Given the description of an element on the screen output the (x, y) to click on. 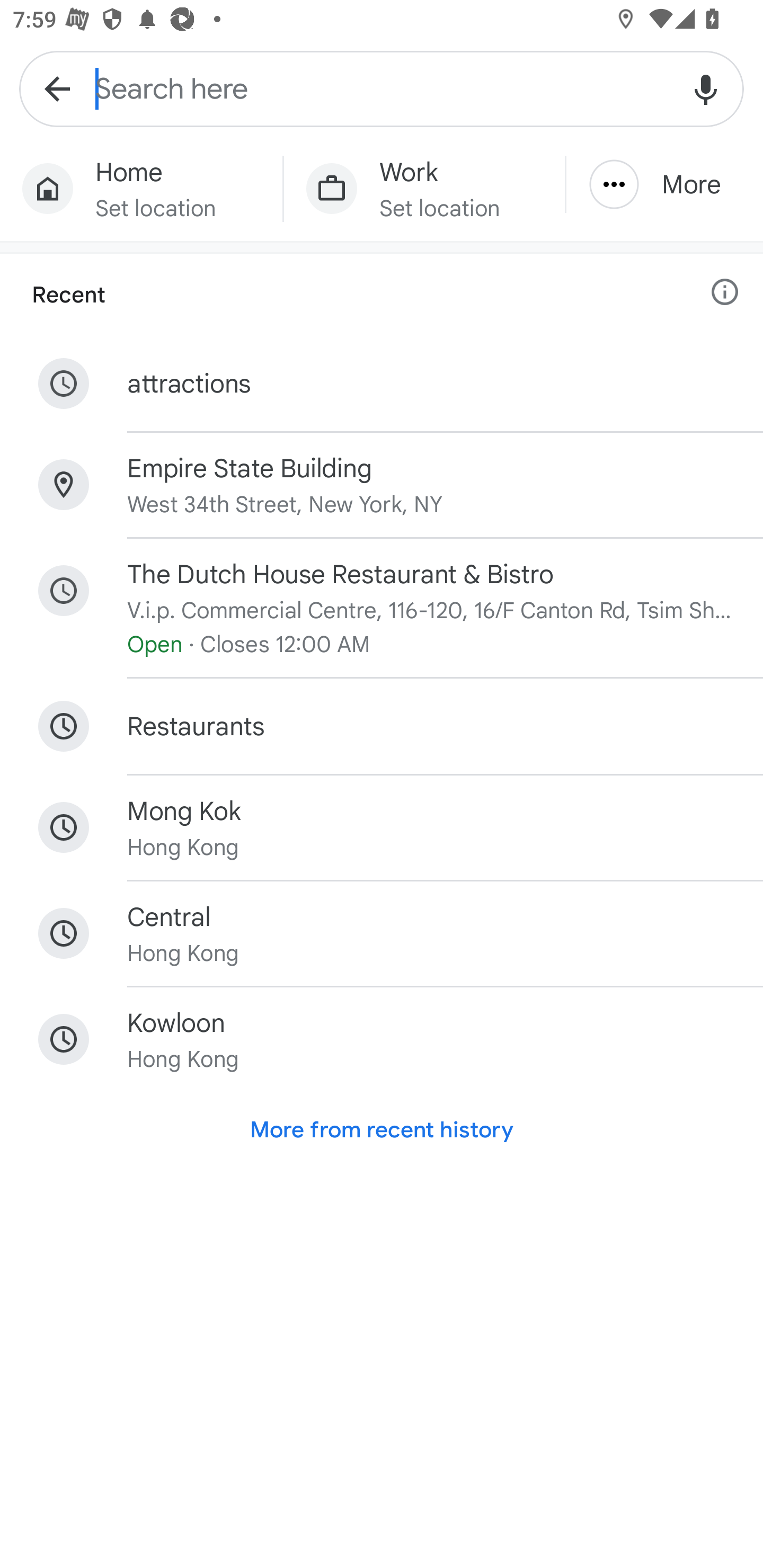
Navigate up (57, 88)
Search here (381, 88)
Voice search (705, 88)
Home Set location (141, 188)
Work Set location (423, 188)
More (664, 184)
attractions (381, 383)
Restaurants (381, 726)
Mong Kok Hong Kong (381, 827)
Central Hong Kong (381, 933)
Kowloon Hong Kong (381, 1039)
More from recent history (381, 1129)
